Given the description of an element on the screen output the (x, y) to click on. 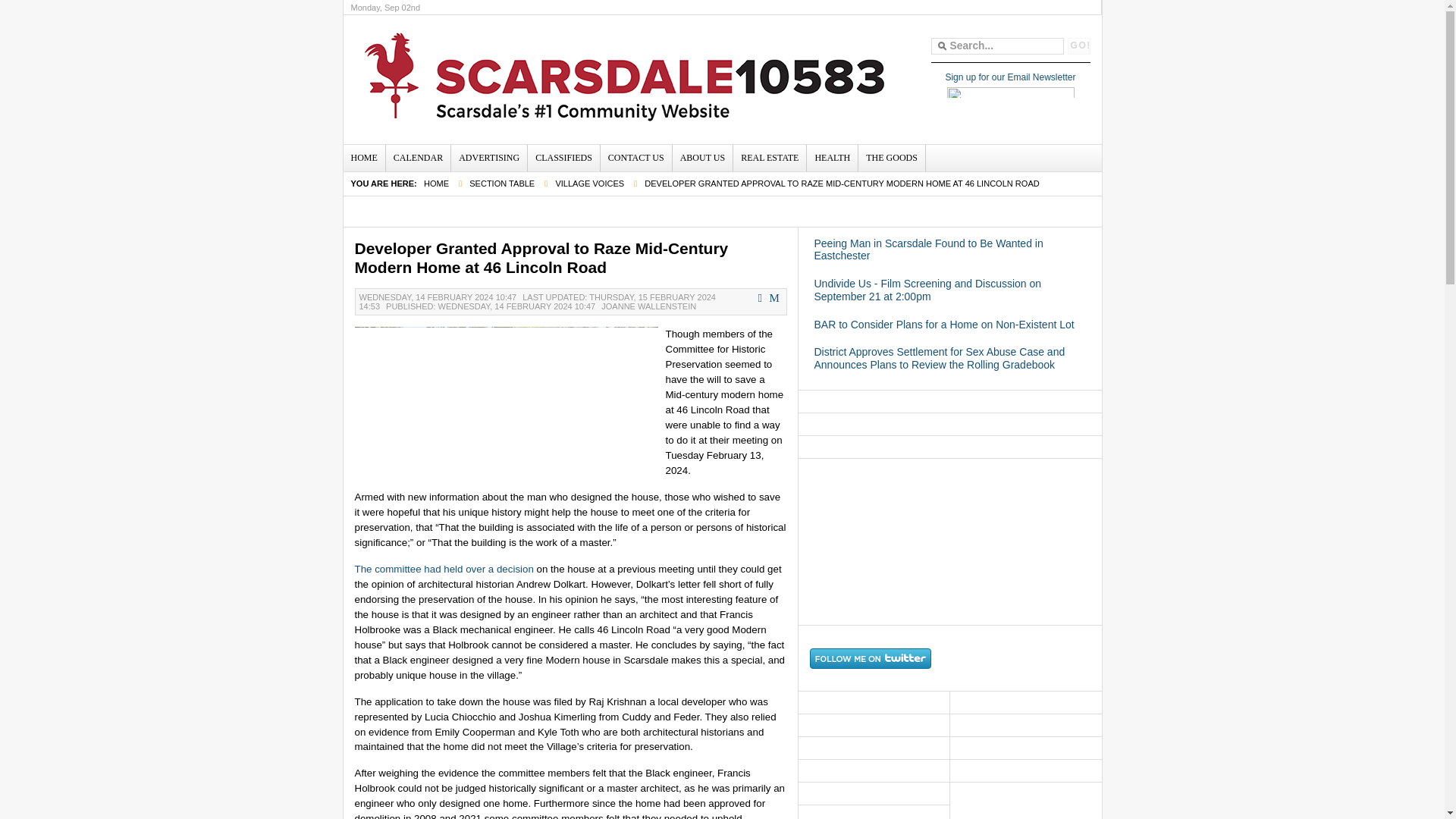
ADVERTISING (489, 157)
VILLAGE VOICES (589, 183)
GO! (1078, 45)
HEALTH (831, 157)
HOME (363, 157)
THE GOODS (891, 157)
ABOUT US (702, 157)
CLASSIFIEDS (563, 157)
The committee had held over a decision (444, 568)
